Given the description of an element on the screen output the (x, y) to click on. 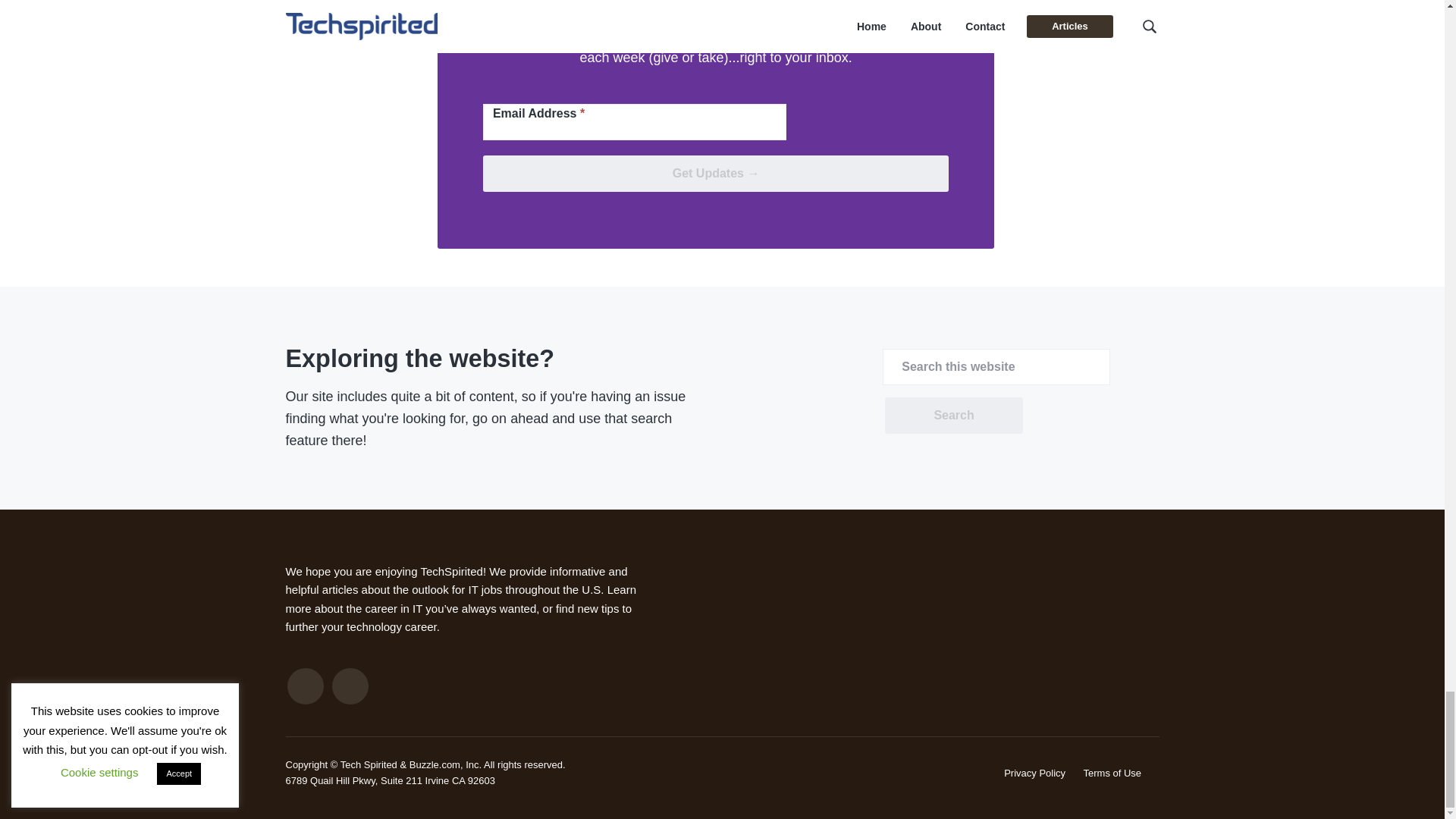
Search (953, 415)
Terms of Use (1112, 772)
Search (953, 415)
Privacy Policy (1034, 772)
Search (953, 415)
